Given the description of an element on the screen output the (x, y) to click on. 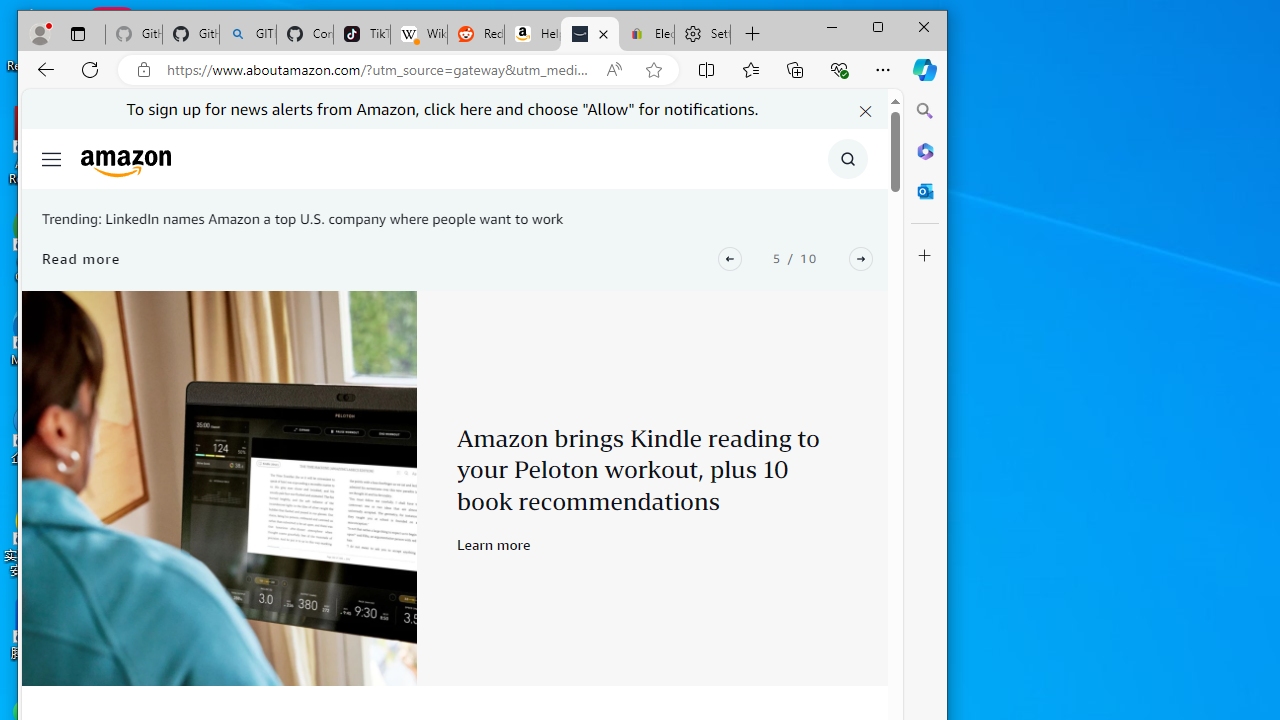
Peloton x Kindle (219, 488)
Read more (81, 258)
